Given the description of an element on the screen output the (x, y) to click on. 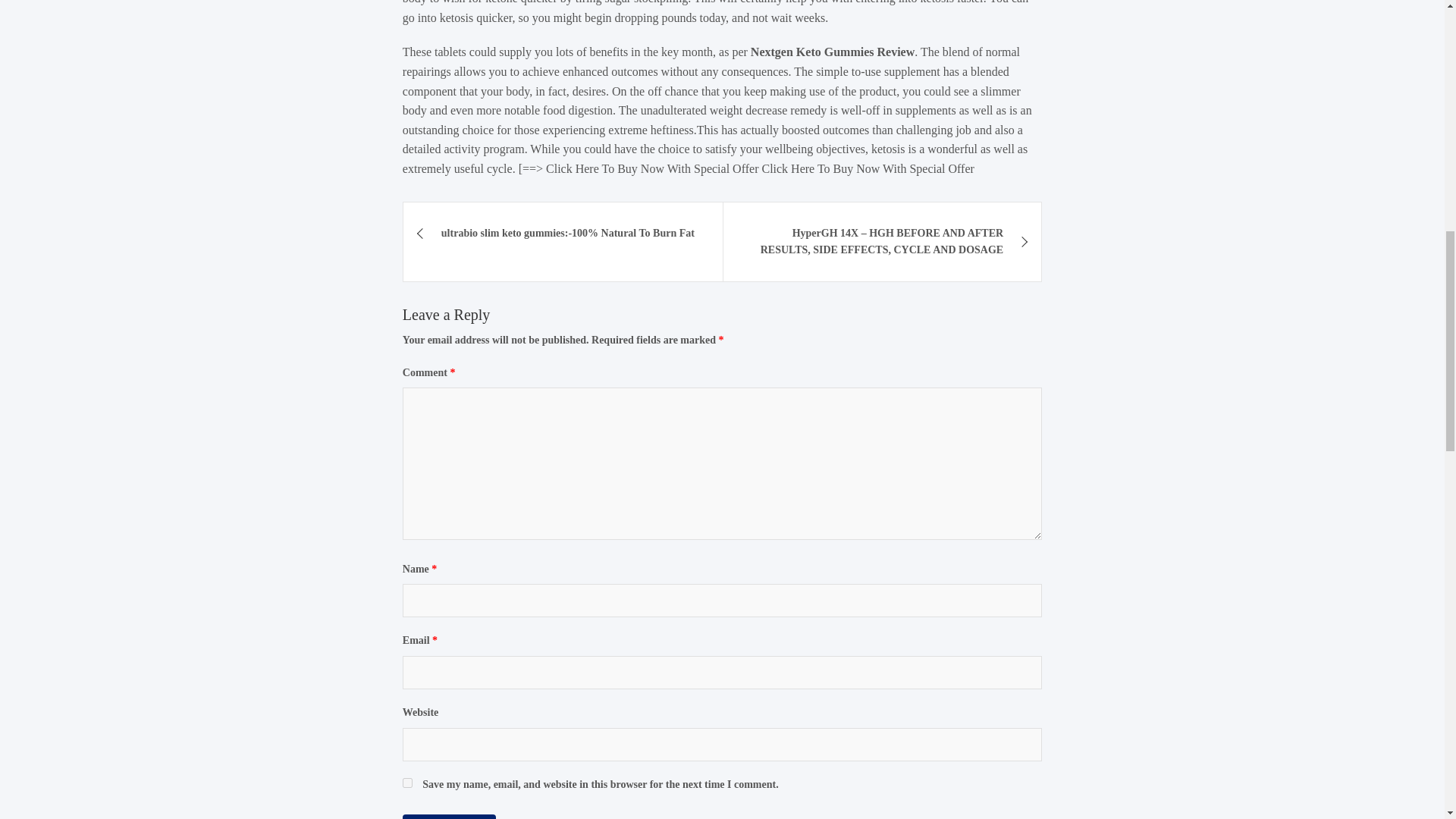
Nextgen Keto Gummies Review. (834, 51)
yes (407, 782)
Post Comment (449, 816)
Post Comment (449, 816)
